Given the description of an element on the screen output the (x, y) to click on. 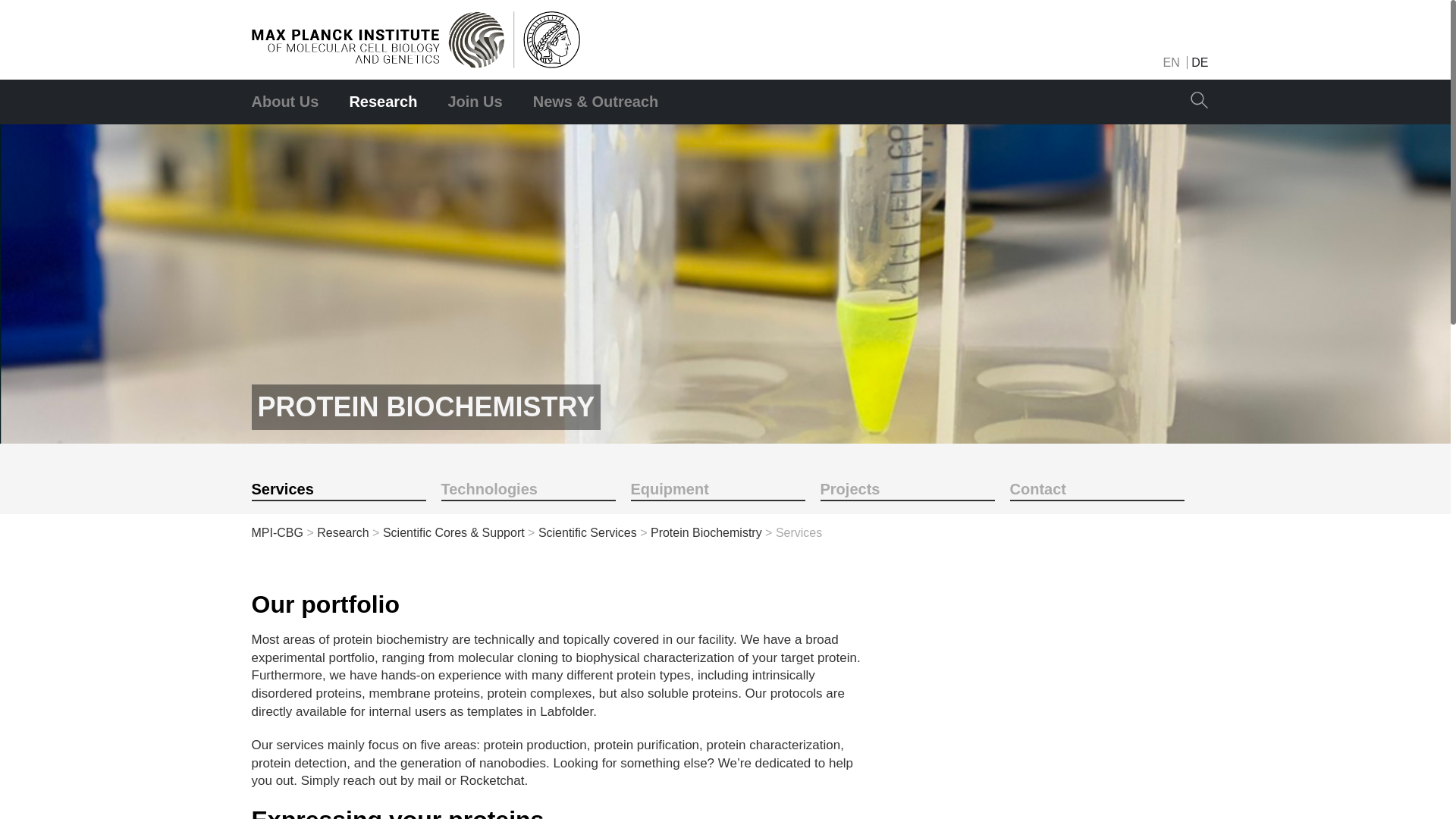
DE (1199, 62)
Max Planck Institute of Molecular Cell Biology and Genetics (415, 39)
About Us (292, 101)
Research (382, 101)
Research (382, 101)
PROTEIN BIOCHEMISTRY (426, 406)
Research (342, 532)
Contact (1097, 484)
MPI-CBG (276, 532)
About Us (292, 101)
